Given the description of an element on the screen output the (x, y) to click on. 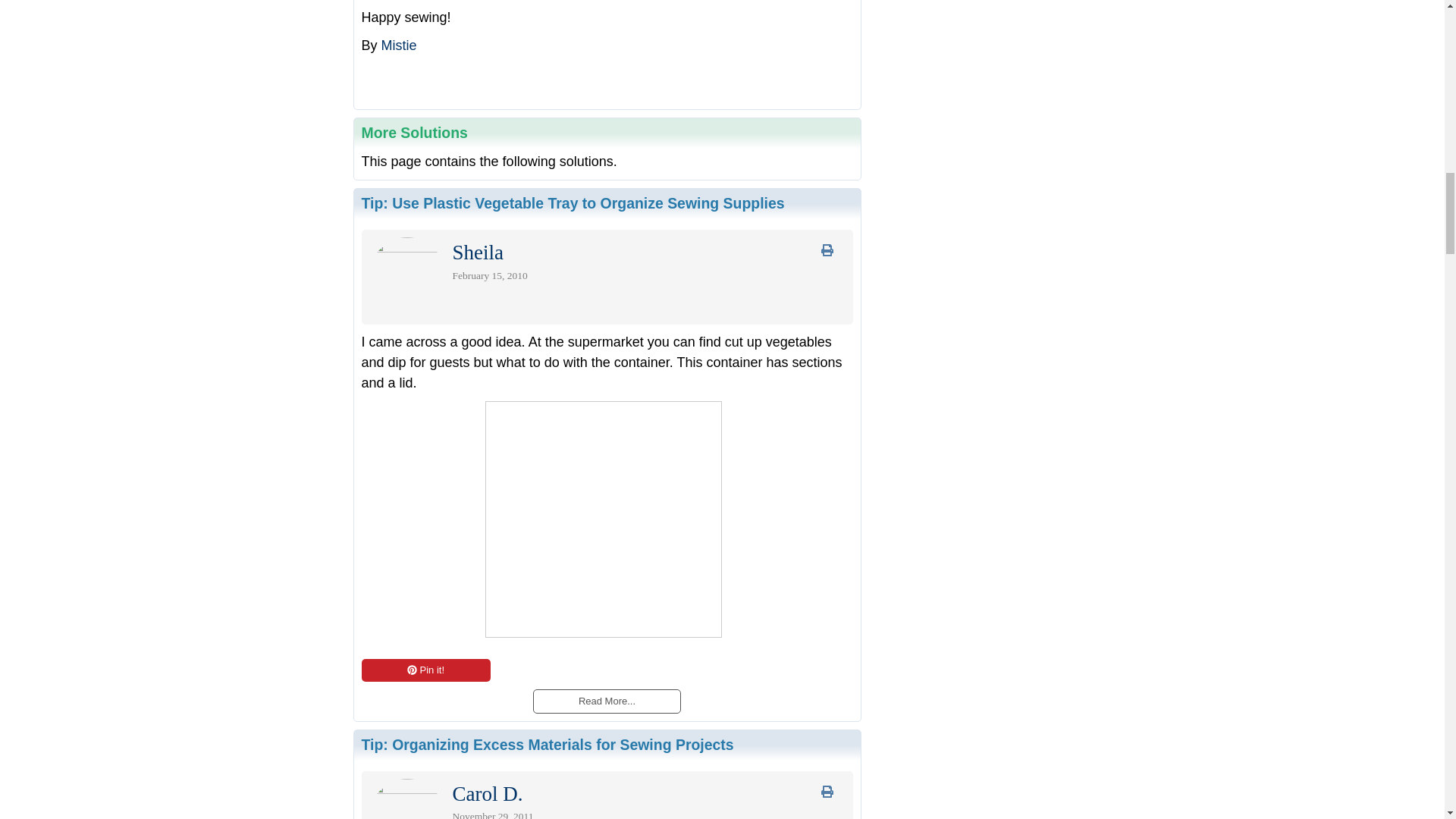
Sheila (477, 255)
Mistie (398, 45)
Tip: Organizing Excess Materials for Sewing Projects (547, 744)
Read More... (605, 700)
 Pin it! (425, 670)
Carol D. (486, 797)
